Given the description of an element on the screen output the (x, y) to click on. 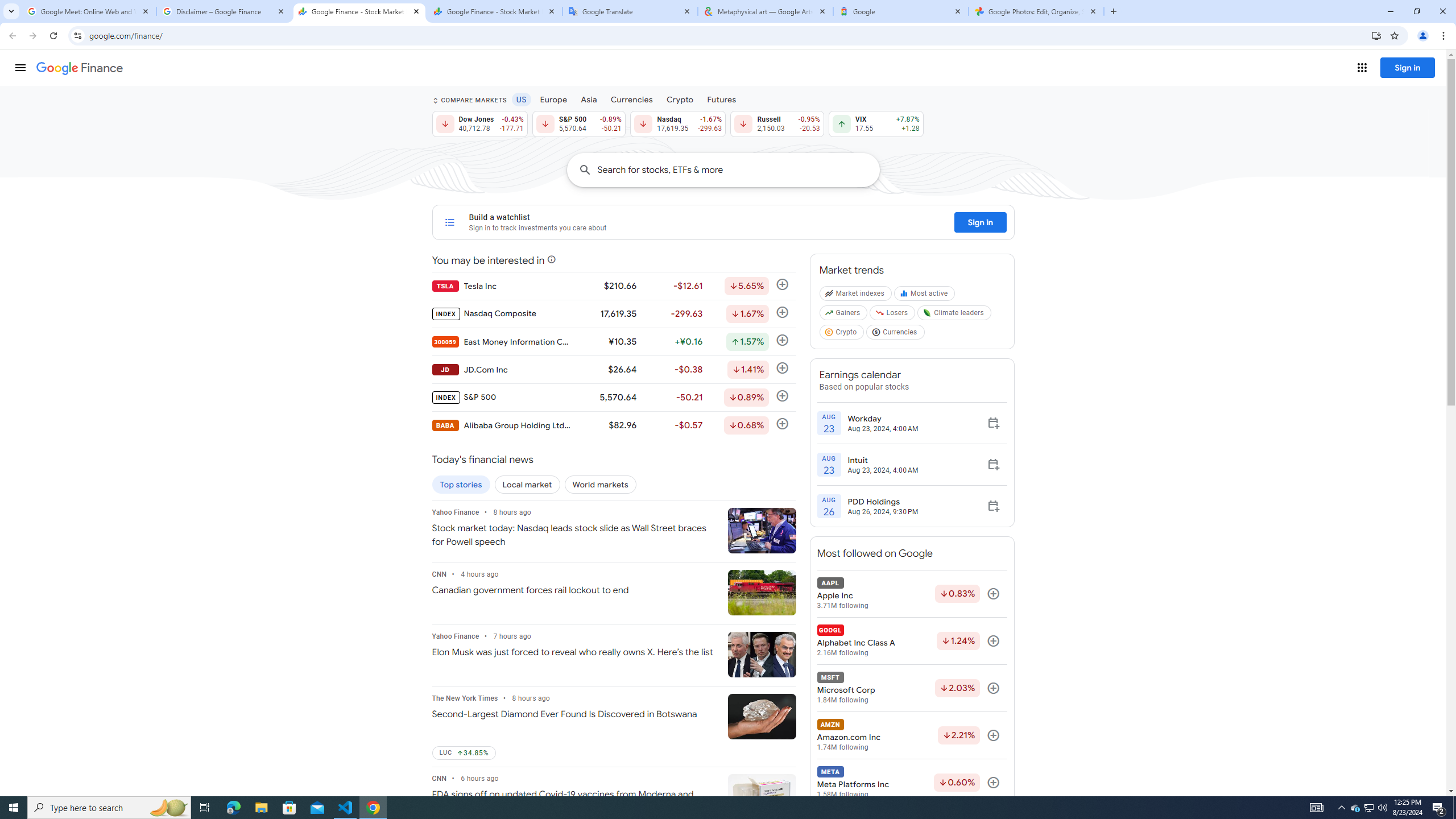
JD JD.Com Inc $26.64 -$0.38 Down by 1.41% Follow (613, 369)
Asia (588, 99)
Install Google Finance (1376, 35)
AMZN Amazon.com Inc 1.74M following Down by 2.21% Follow (911, 735)
MSFT Microsoft Corp 1.84M following Down by 2.03% Follow (911, 688)
Crypto (842, 334)
Top stories (460, 484)
